Given the description of an element on the screen output the (x, y) to click on. 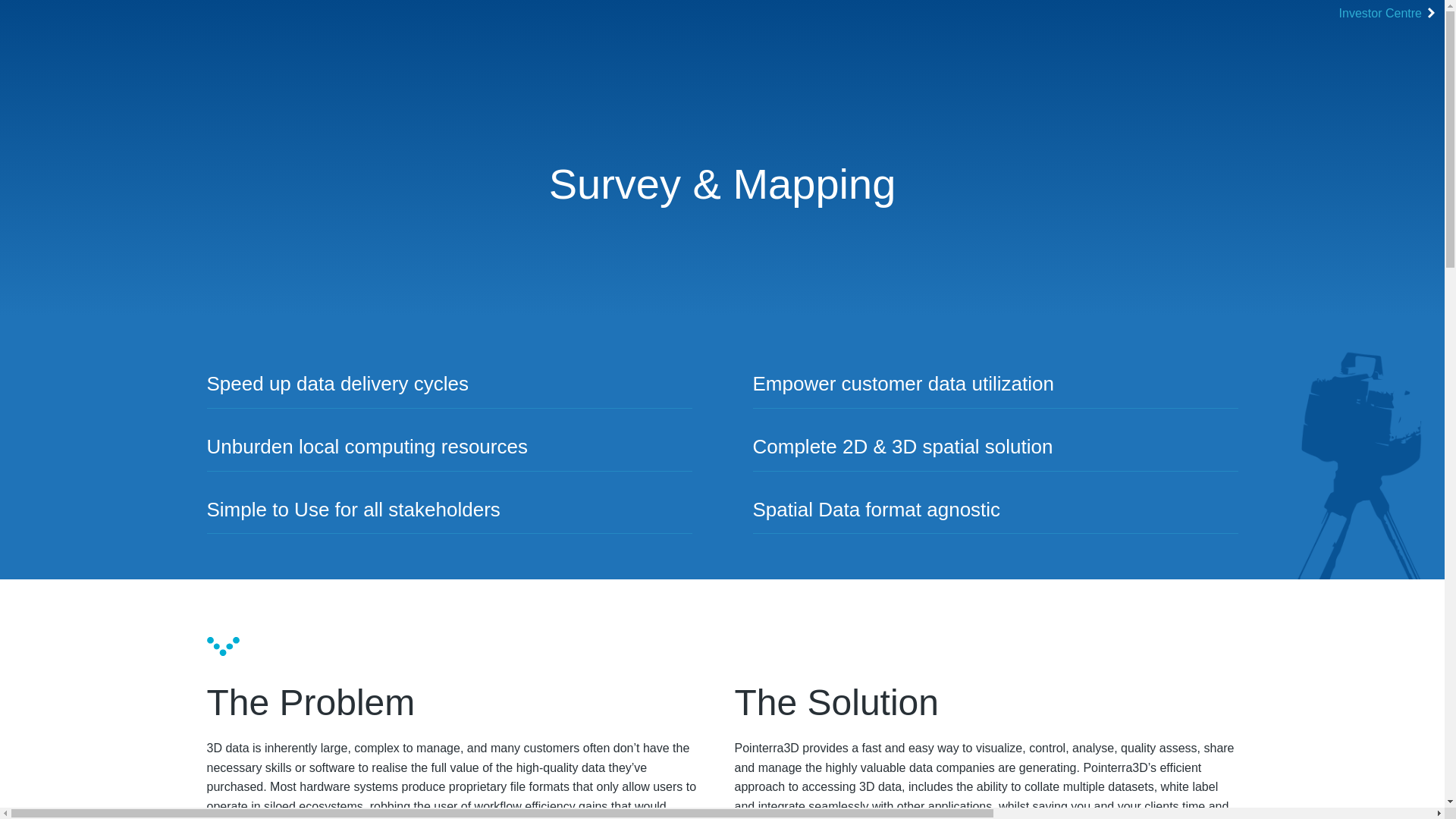
Home (234, 668)
Investor Centre (1390, 13)
About (1085, 668)
Industries (520, 668)
Product (294, 668)
